Given the description of an element on the screen output the (x, y) to click on. 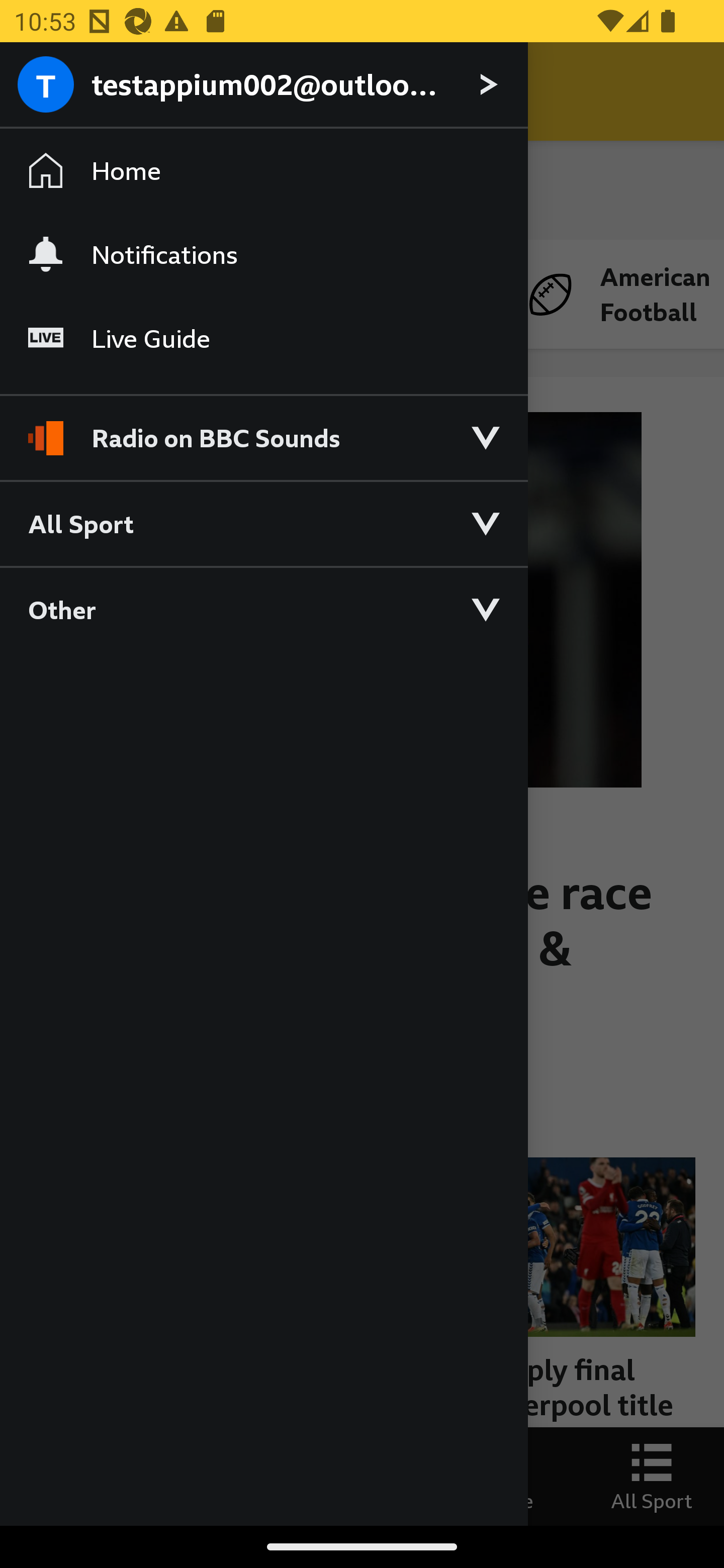
testappium002@outlook.com (263, 85)
Home (263, 170)
Notifications (263, 253)
Live Guide (263, 338)
Radio on BBC Sounds (263, 429)
All Sport (263, 522)
Other (263, 609)
